Given the description of an element on the screen output the (x, y) to click on. 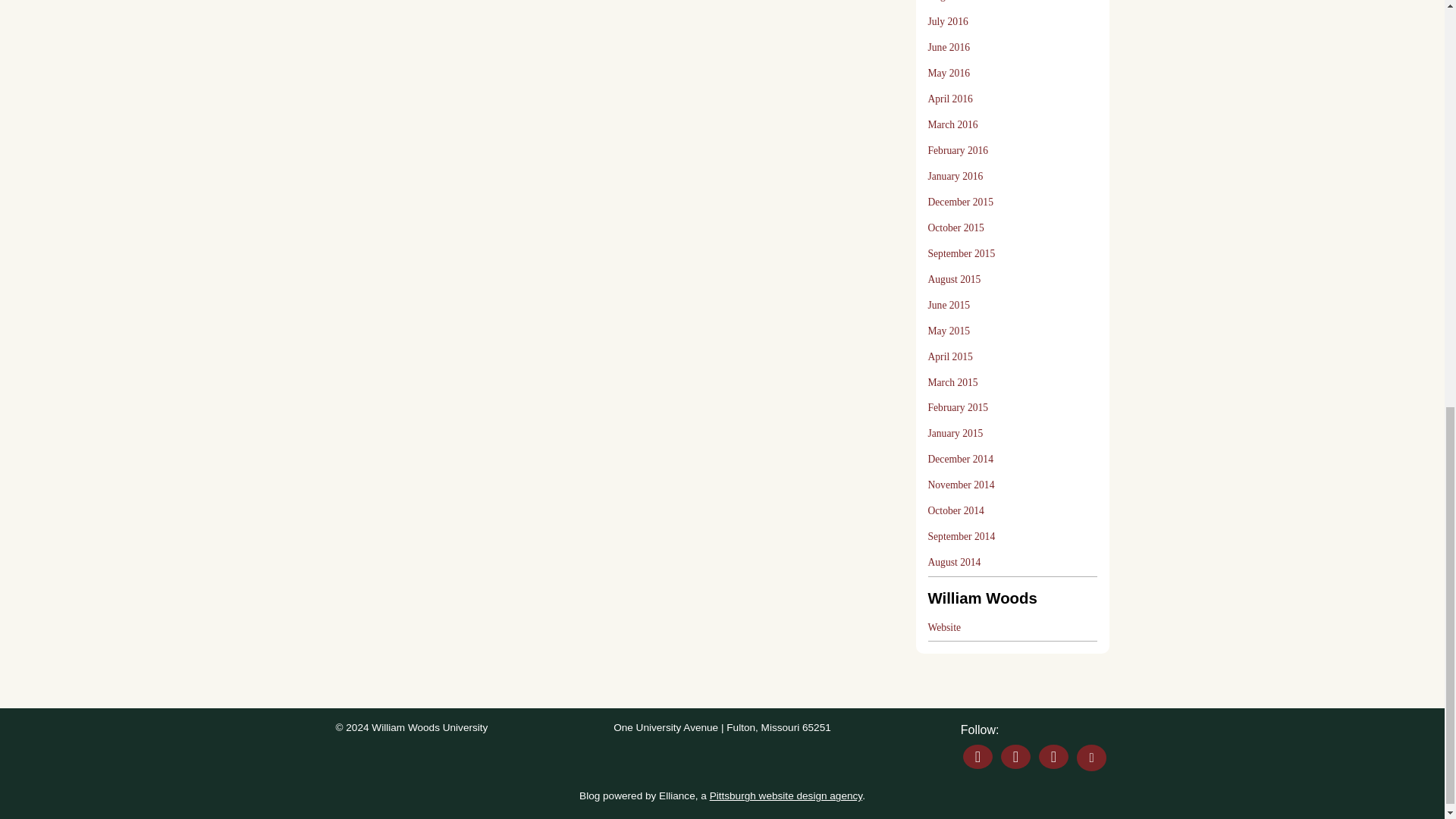
June 2016 (949, 47)
July 2016 (948, 22)
August 2016 (954, 4)
